Given the description of an element on the screen output the (x, y) to click on. 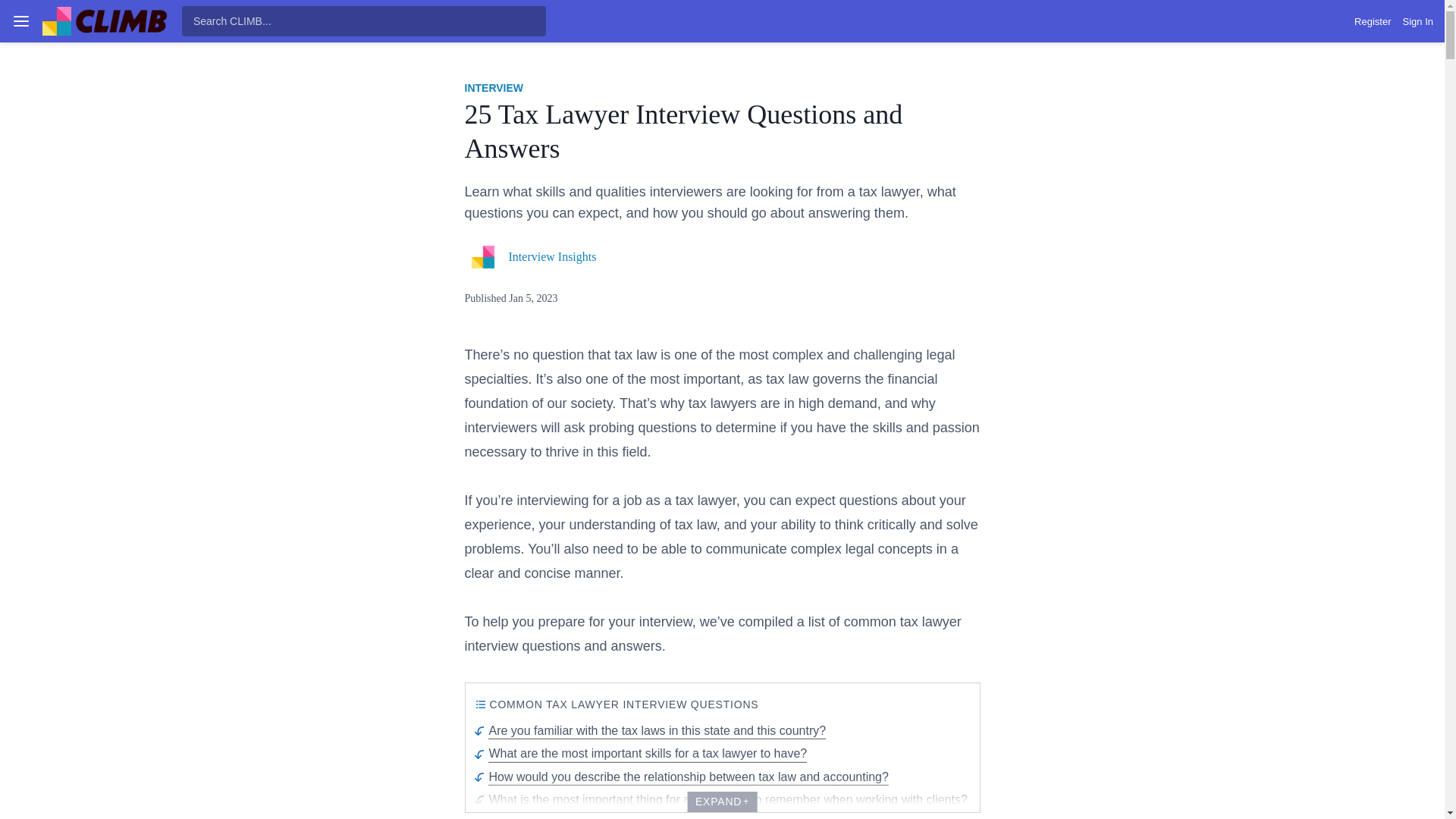
Sign In (1417, 21)
Interview Insights (551, 256)
INTERVIEW (493, 87)
Register (1372, 21)
What are the most important skills for a tax lawyer to have? (641, 753)
